Given the description of an element on the screen output the (x, y) to click on. 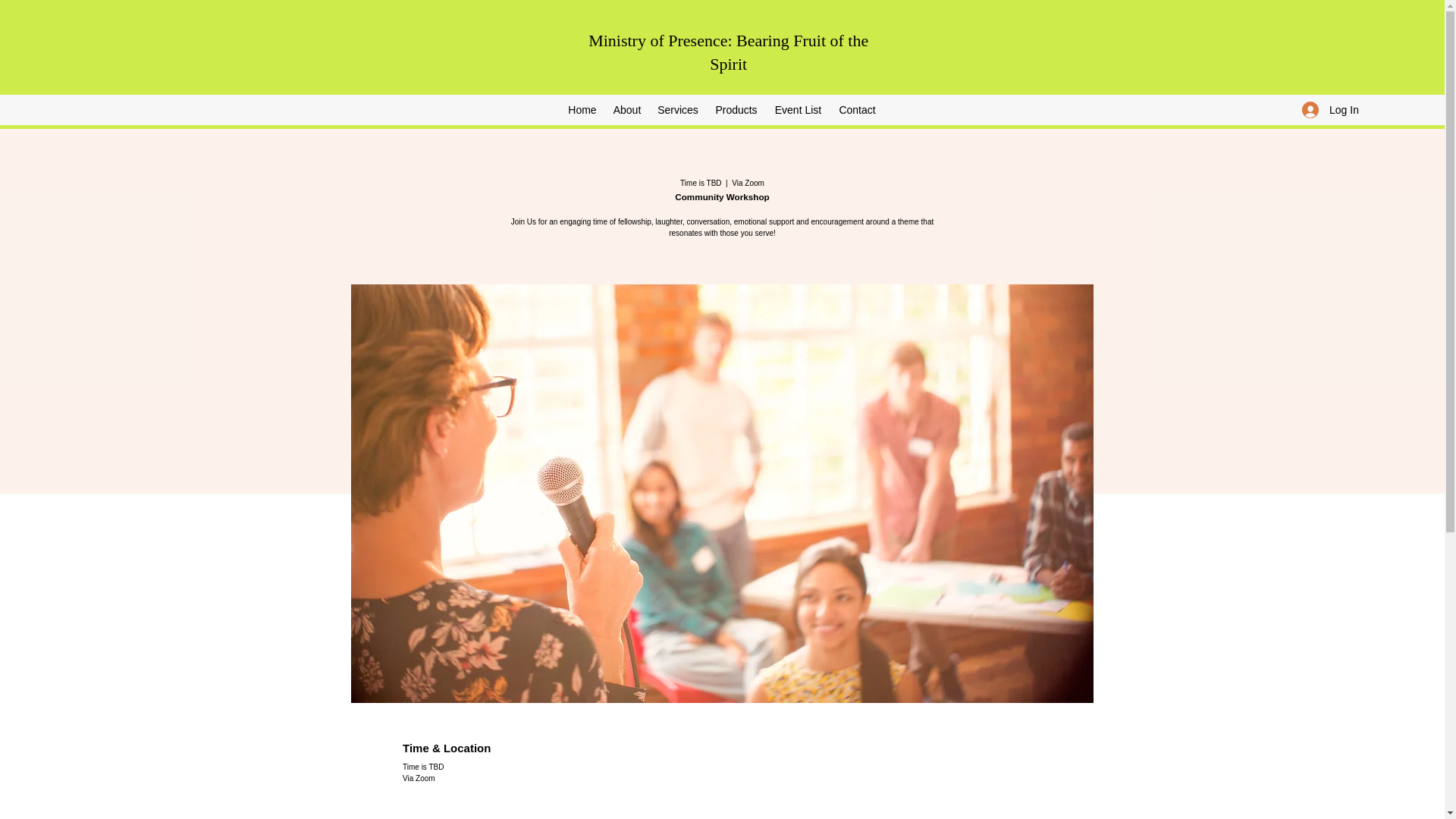
Event List (797, 109)
About (627, 109)
Products (736, 109)
Home (581, 109)
Log In (1325, 109)
Services (677, 109)
Ministry of Presence: Bearing Fruit of the Spirit (727, 52)
Contact (856, 109)
